Given the description of an element on the screen output the (x, y) to click on. 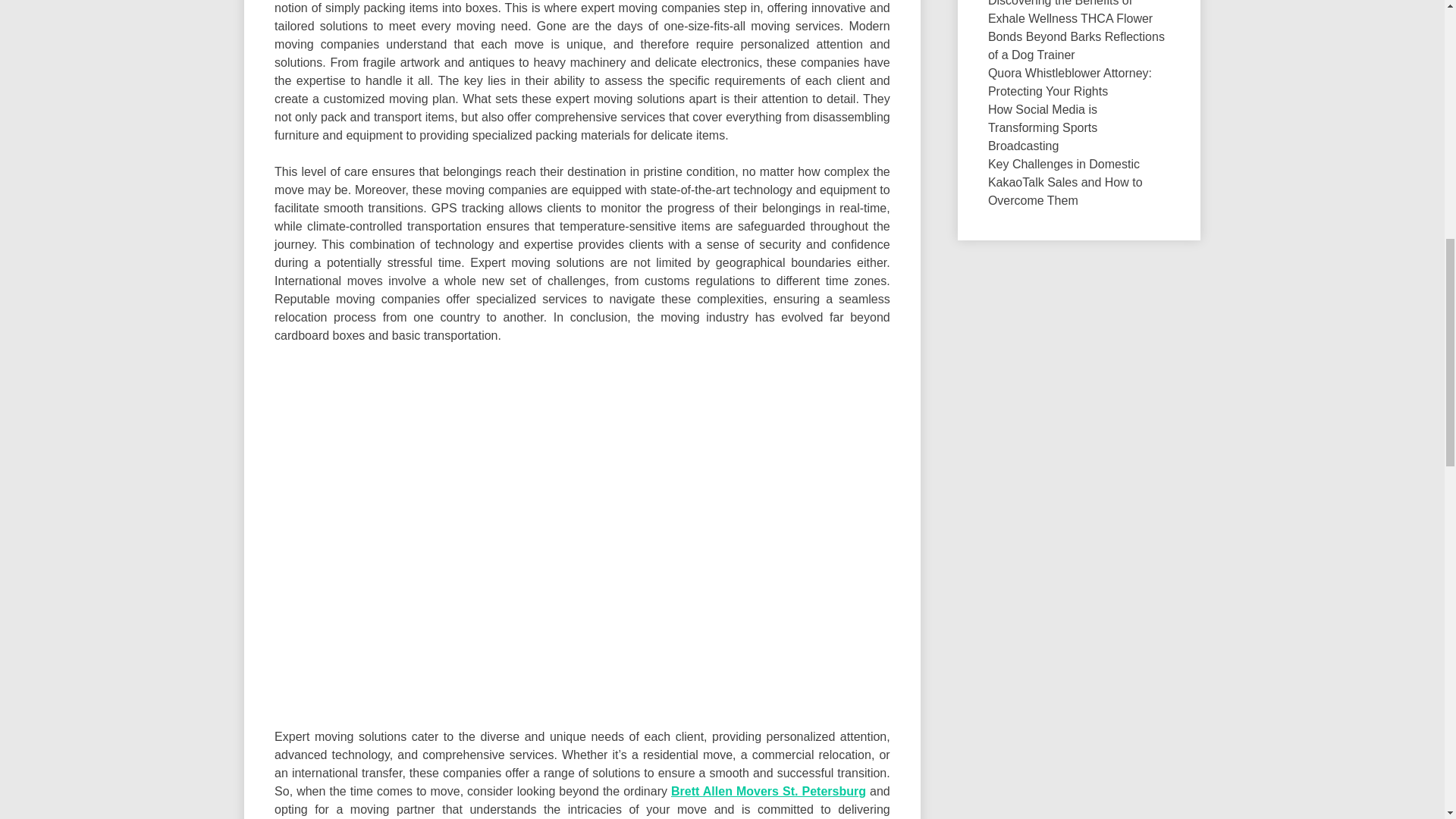
Brett Allen Movers St. Petersburg (768, 790)
